Given the description of an element on the screen output the (x, y) to click on. 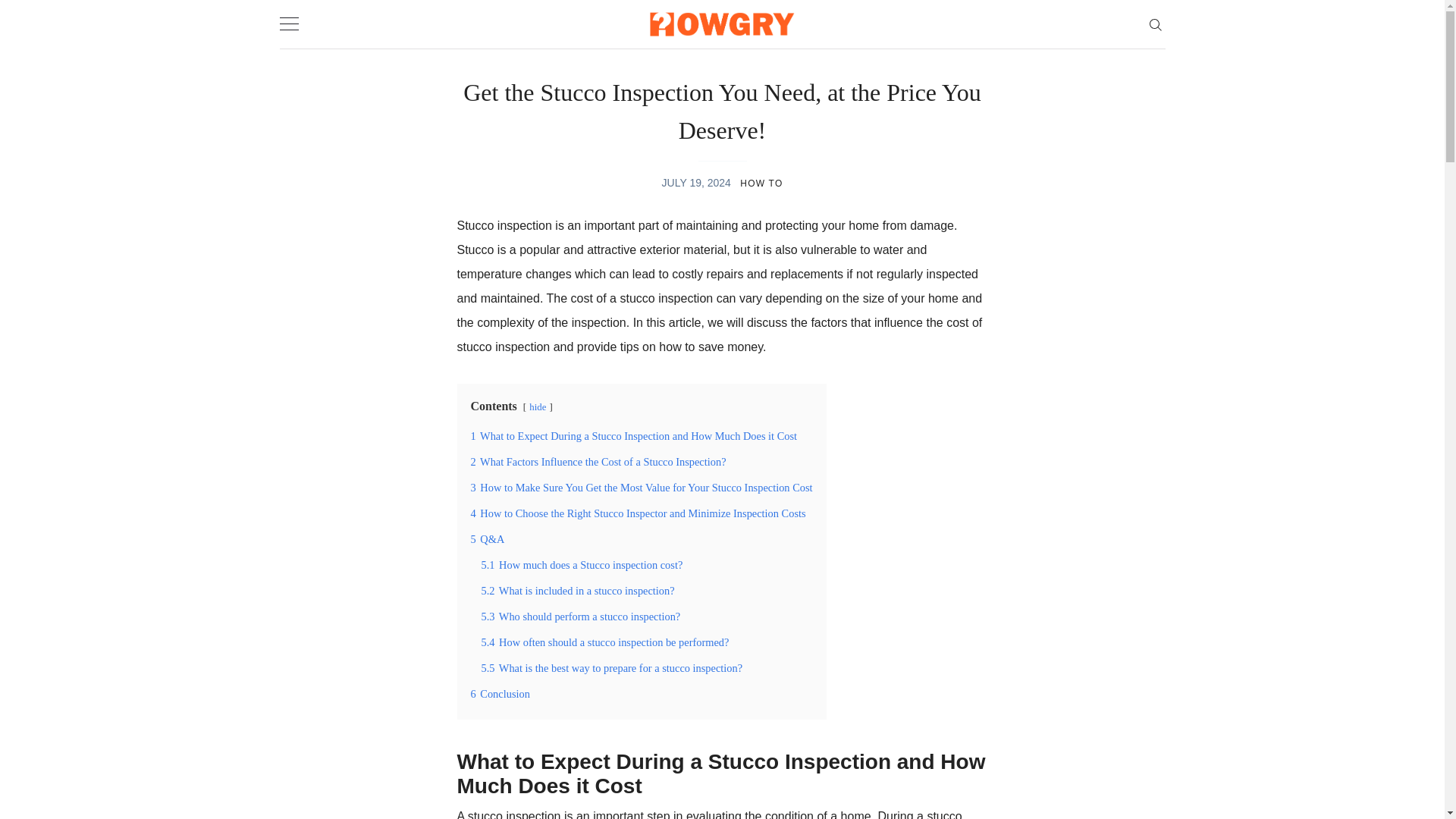
5.1 How much does a Stucco inspection cost? (581, 564)
5.3 Who should perform a stucco inspection? (579, 616)
HOW TO (761, 183)
hide (537, 407)
2 What Factors Influence the Cost of a Stucco Inspection? (597, 461)
5.2 What is included in a stucco inspection? (577, 590)
5.4 How often should a stucco inspection be performed? (604, 642)
